Given the description of an element on the screen output the (x, y) to click on. 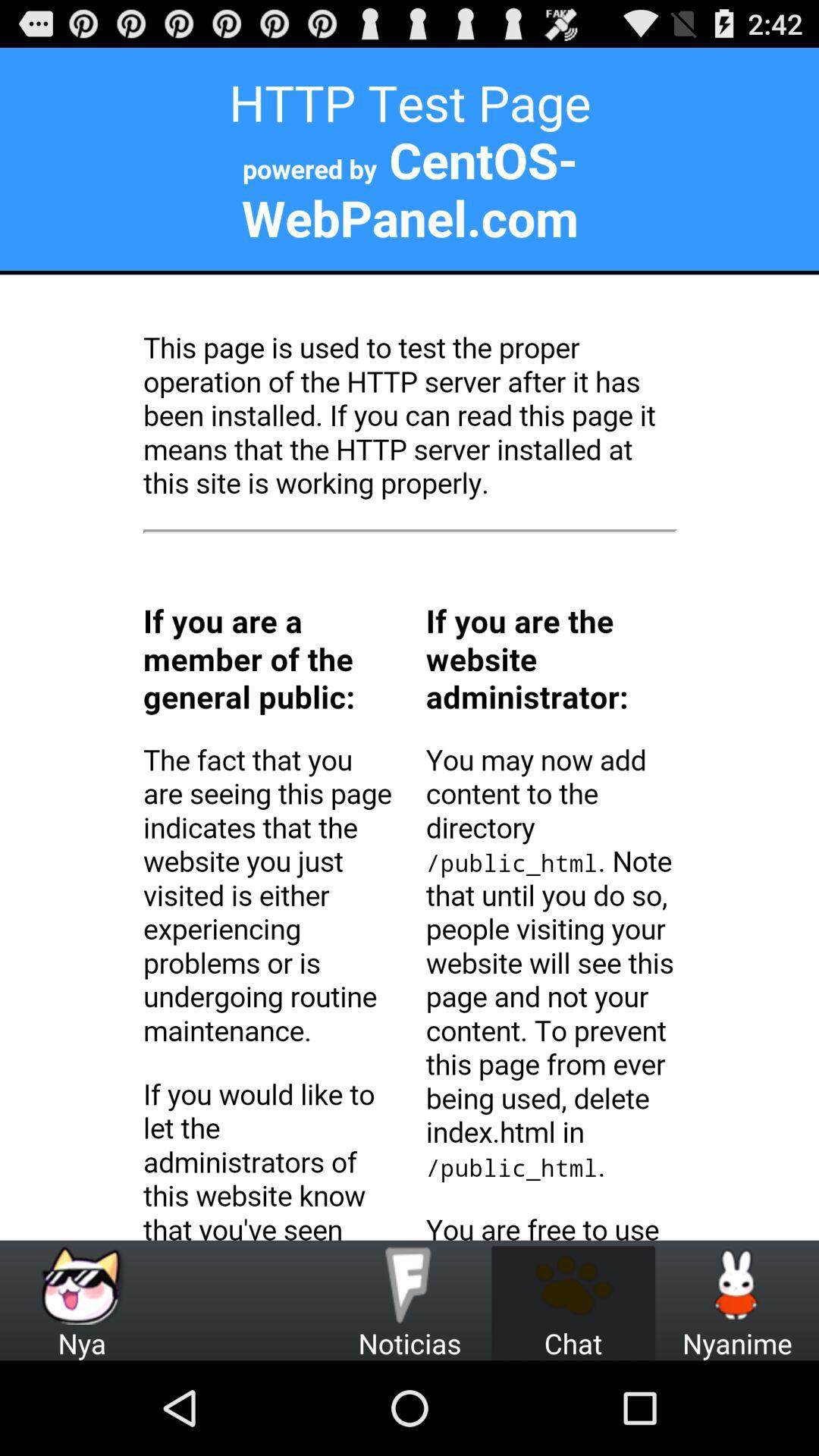
text page (409, 643)
